Given the description of an element on the screen output the (x, y) to click on. 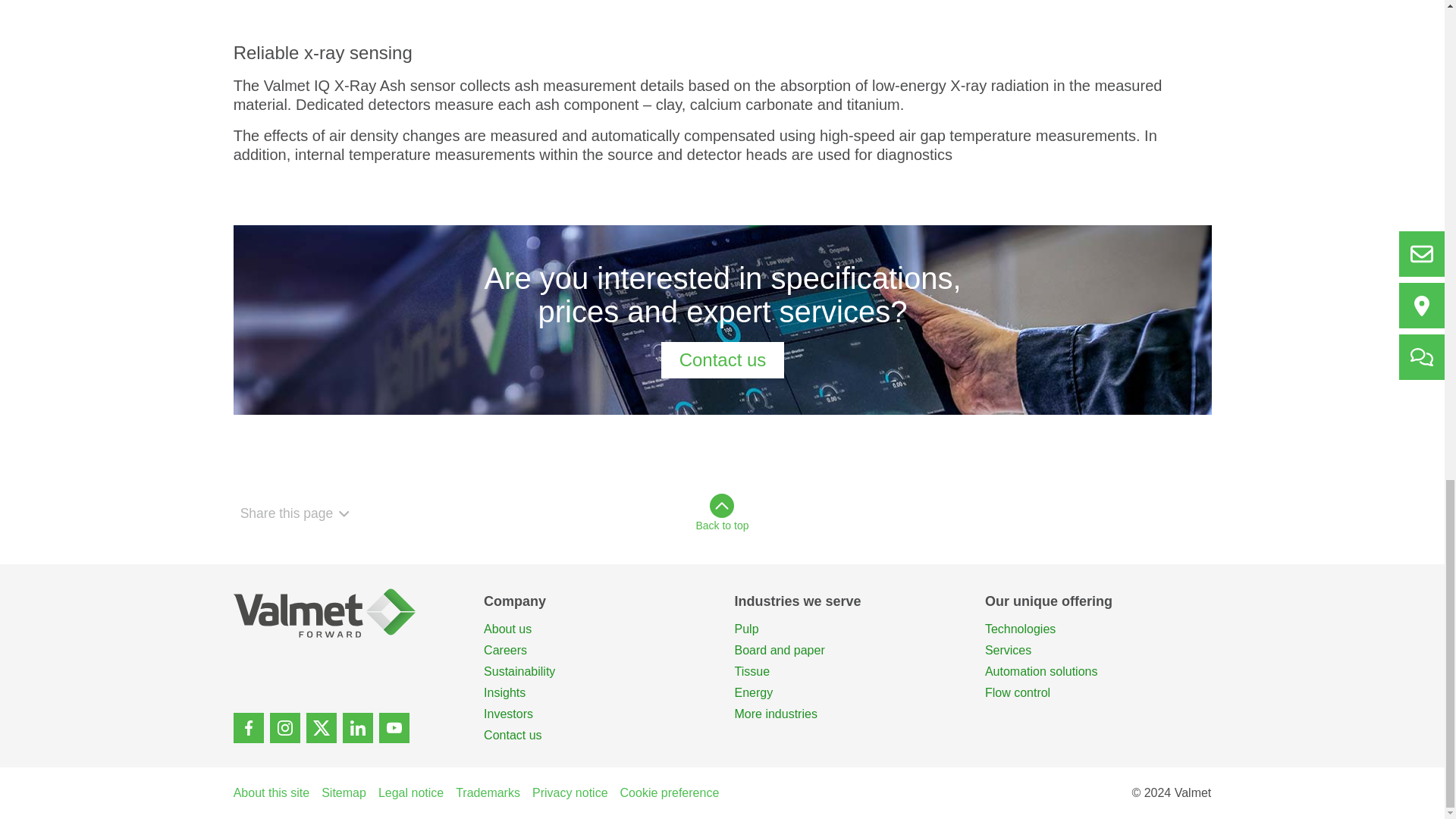
YouTube (393, 727)
Valmet - Forward (346, 613)
Instagram (284, 727)
LinkedIn (357, 727)
Facebook (247, 727)
